Given the description of an element on the screen output the (x, y) to click on. 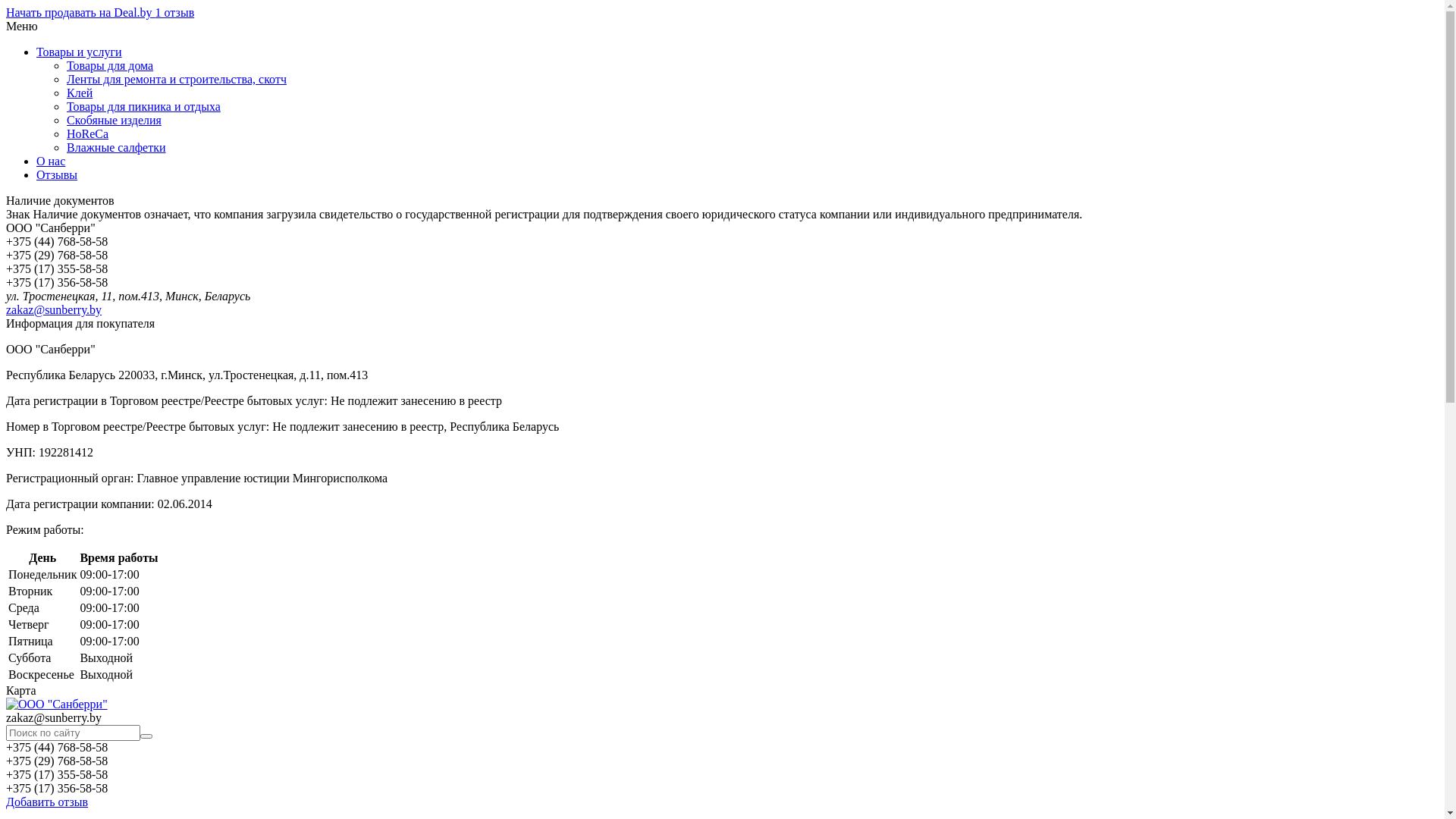
zakaz@sunberry.by Element type: text (53, 309)
HoReCa Element type: text (87, 133)
